Given the description of an element on the screen output the (x, y) to click on. 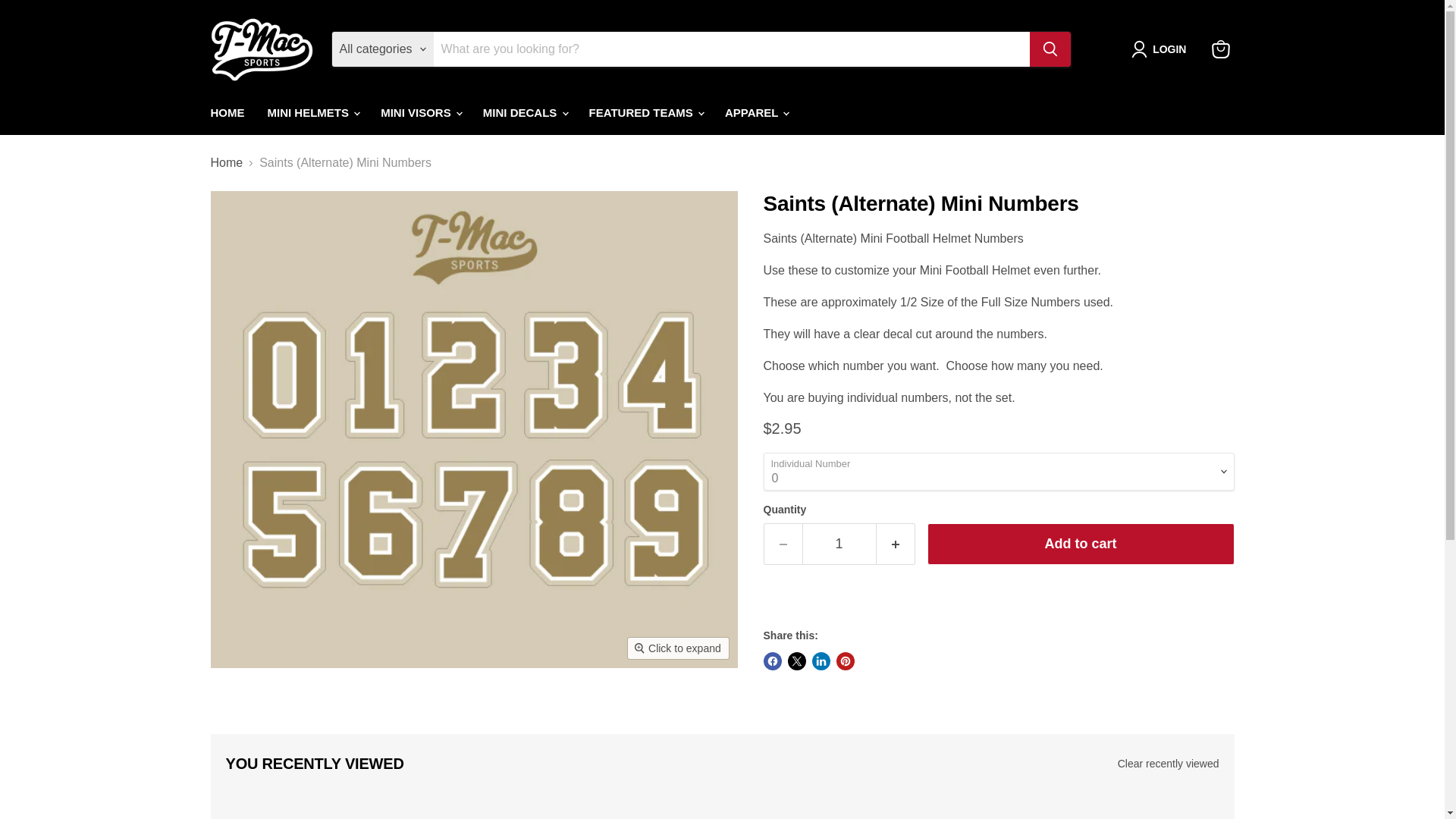
HOME (227, 112)
LOGIN (1161, 49)
1 (839, 544)
View cart (1220, 49)
